Given the description of an element on the screen output the (x, y) to click on. 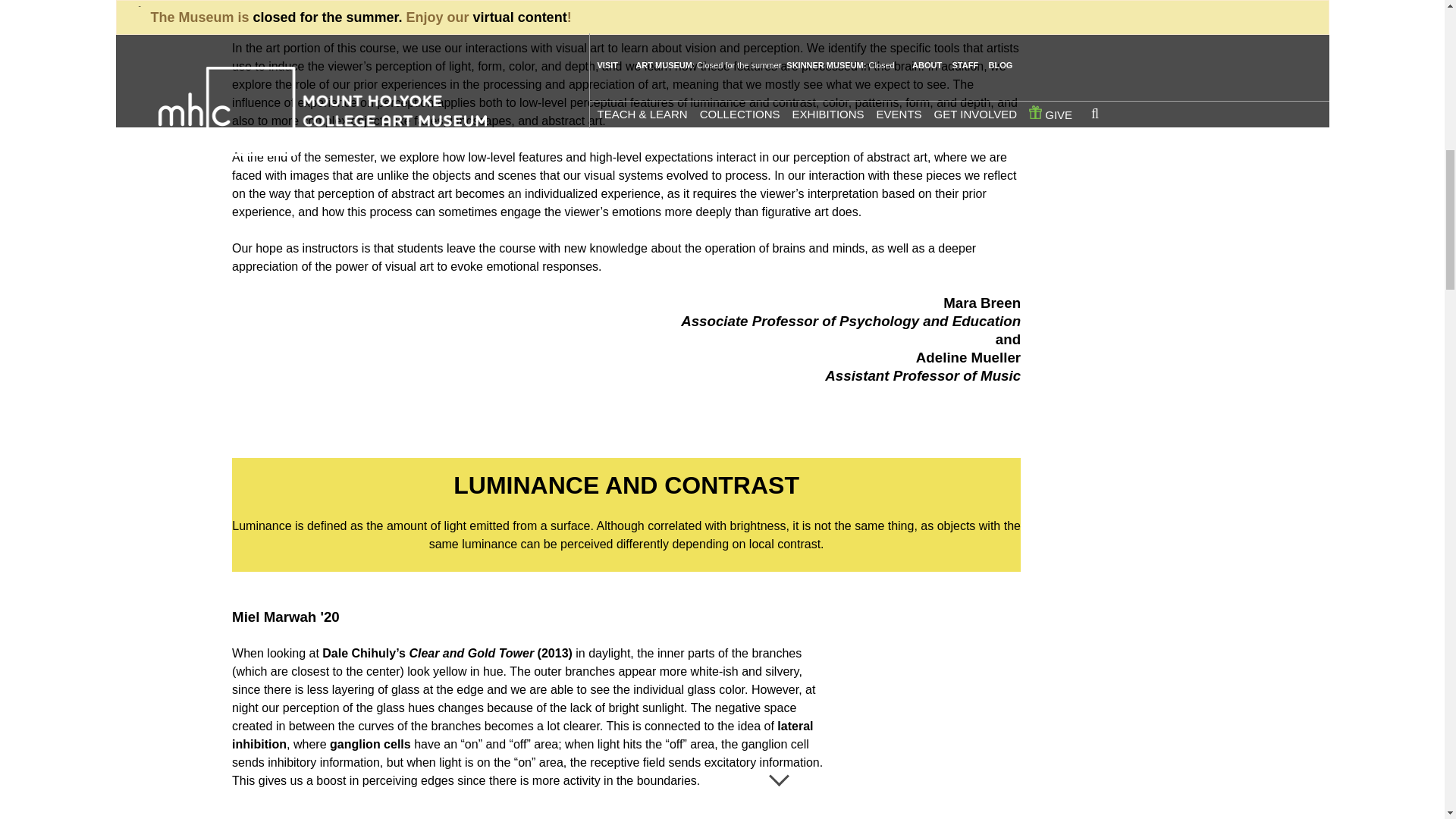
Chihuly, Dale, Clear and Gold Tower (922, 731)
